Given the description of an element on the screen output the (x, y) to click on. 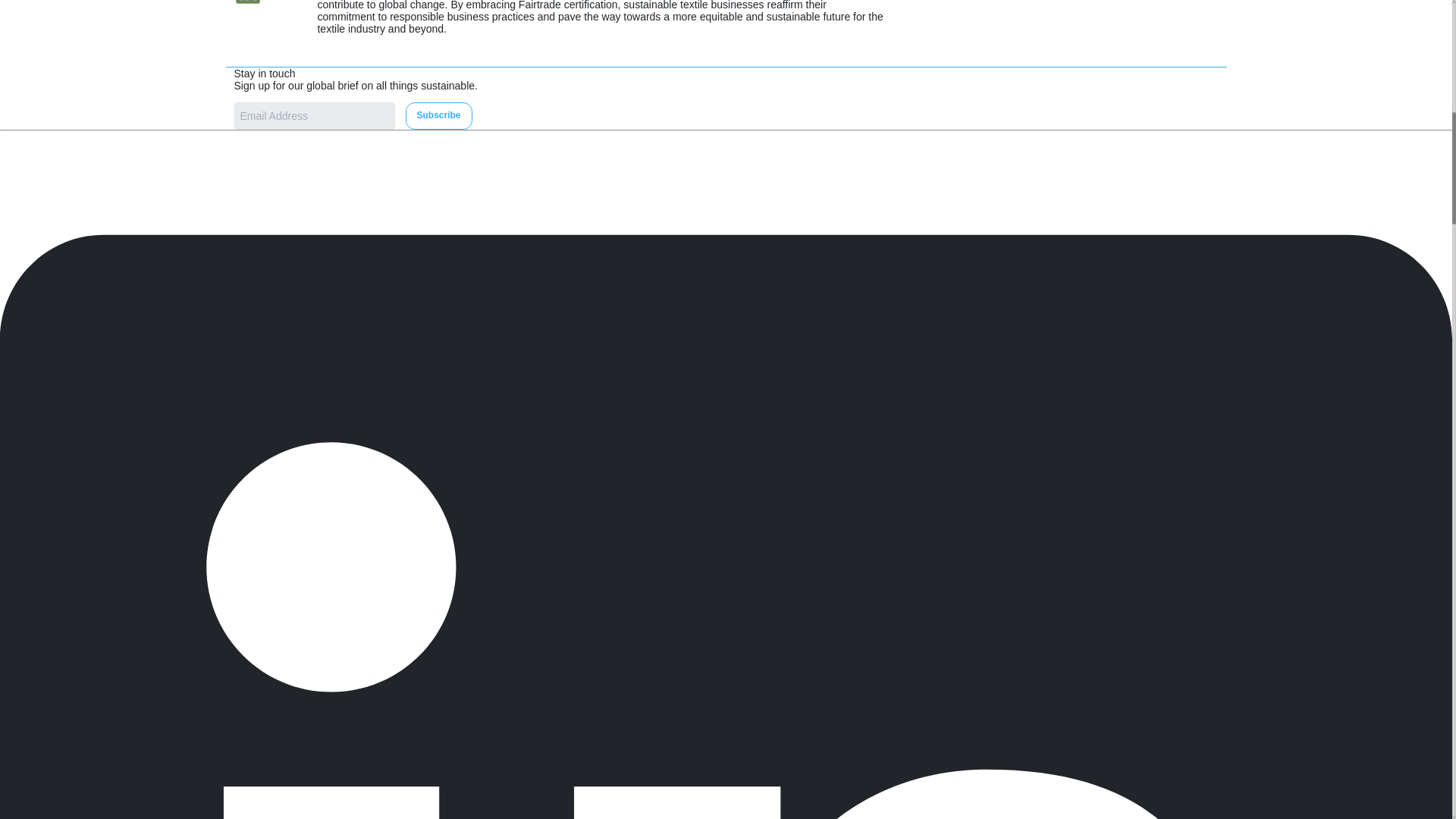
Subscribe (437, 115)
